Given the description of an element on the screen output the (x, y) to click on. 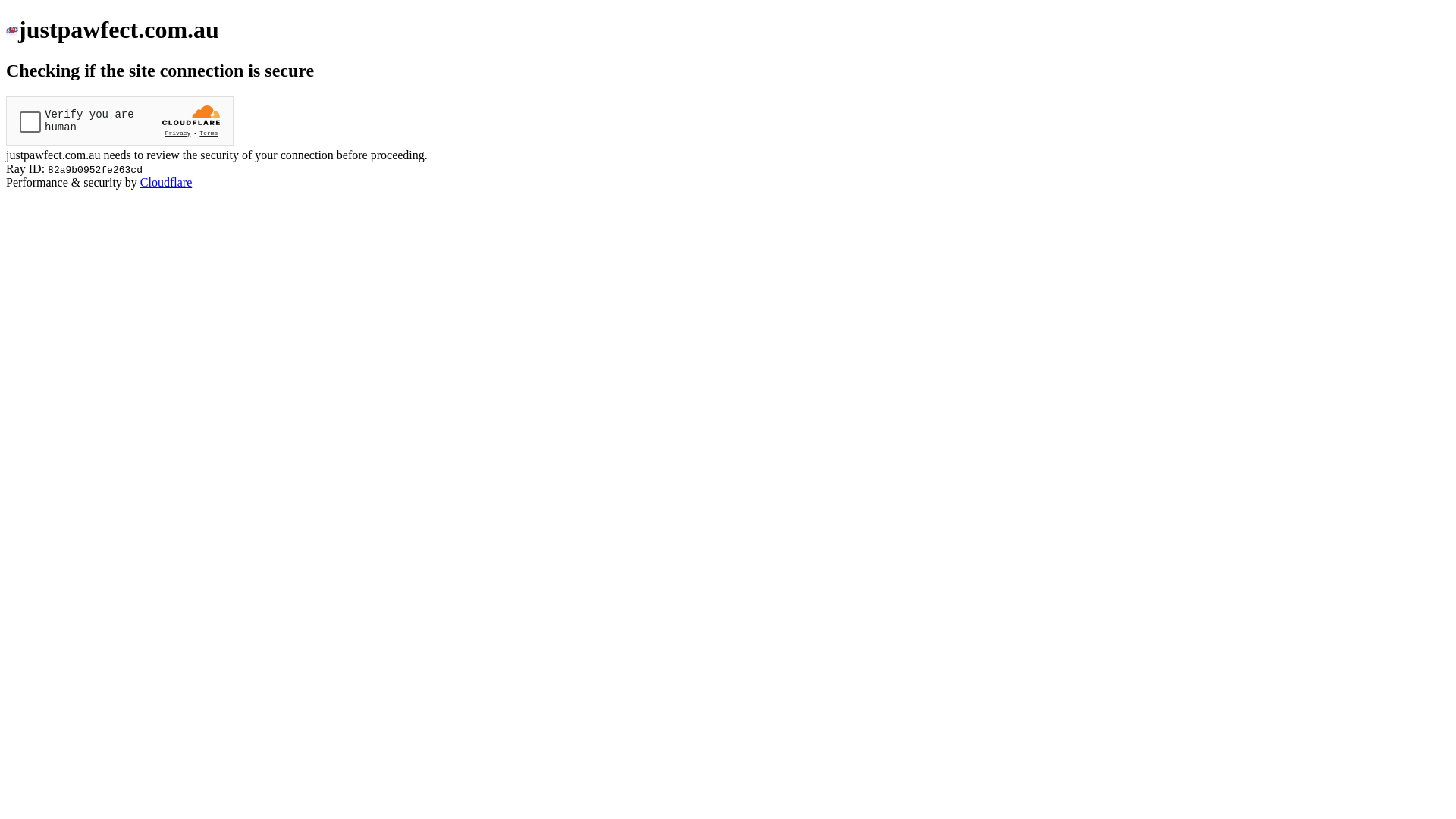
Widget containing a Cloudflare security challenge Element type: hover (119, 120)
Cloudflare Element type: text (165, 181)
